Given the description of an element on the screen output the (x, y) to click on. 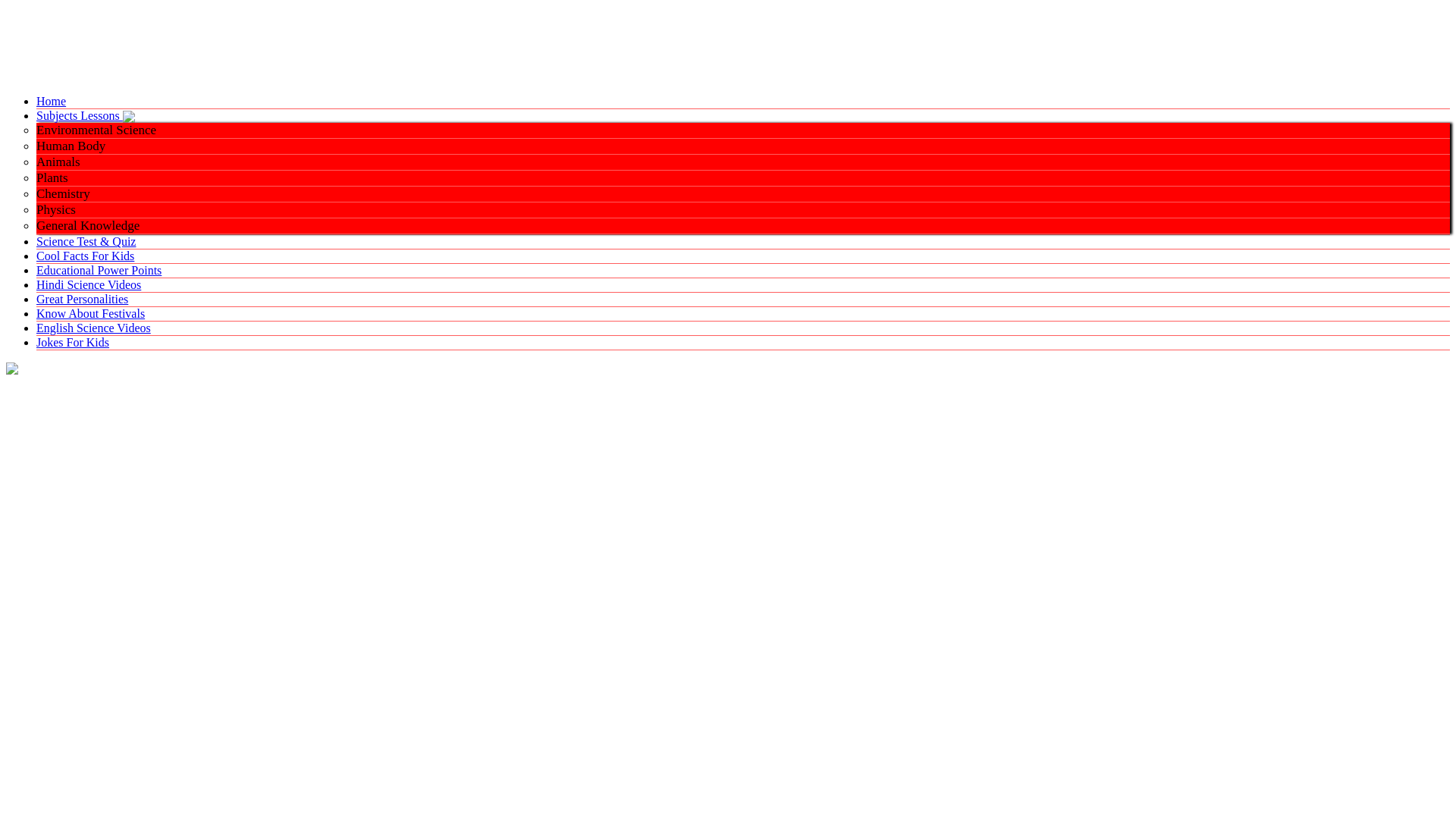
Human Body (70, 145)
Animals (58, 161)
Great Personalities (82, 298)
Chemistry (63, 193)
Physics (55, 209)
Hindi Science Videos (88, 284)
Plants (52, 177)
Know About Festivals (90, 313)
Educational Power Points (98, 269)
Environmental Science (95, 129)
